Given the description of an element on the screen output the (x, y) to click on. 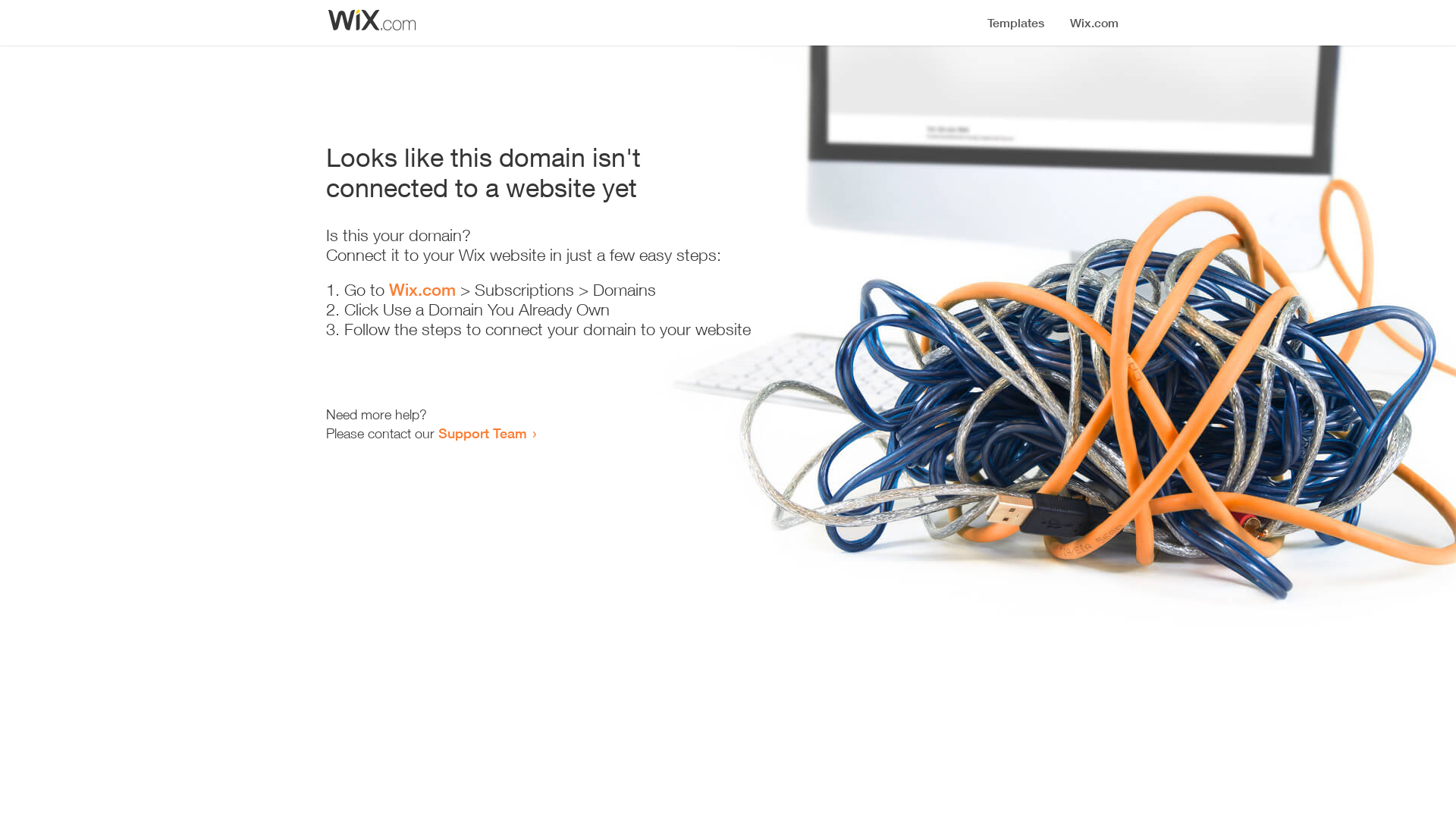
Support Team Element type: text (482, 432)
Wix.com Element type: text (422, 289)
